Given the description of an element on the screen output the (x, y) to click on. 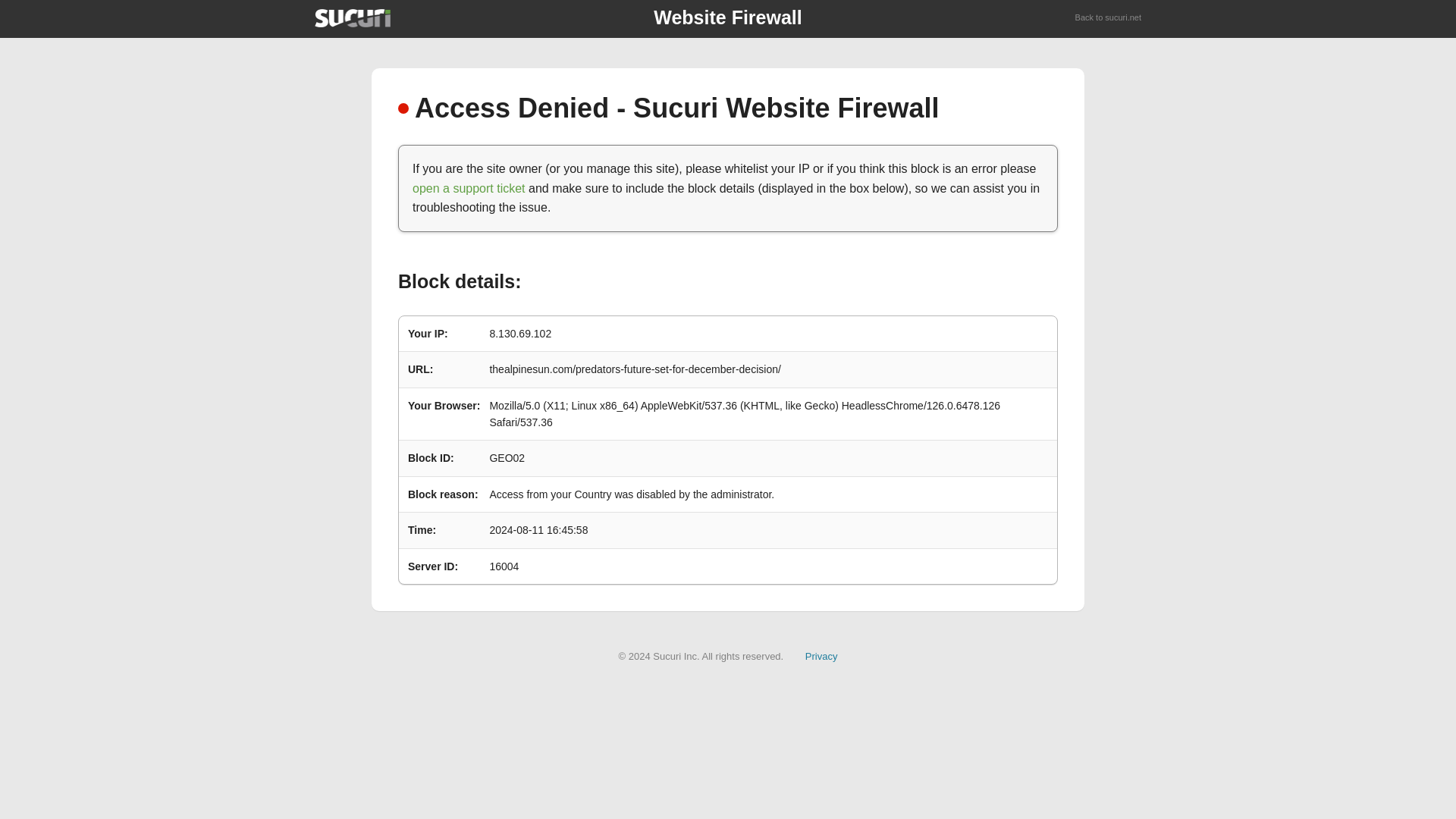
Privacy (821, 655)
open a support ticket (468, 187)
Back to sucuri.net (1108, 18)
